Given the description of an element on the screen output the (x, y) to click on. 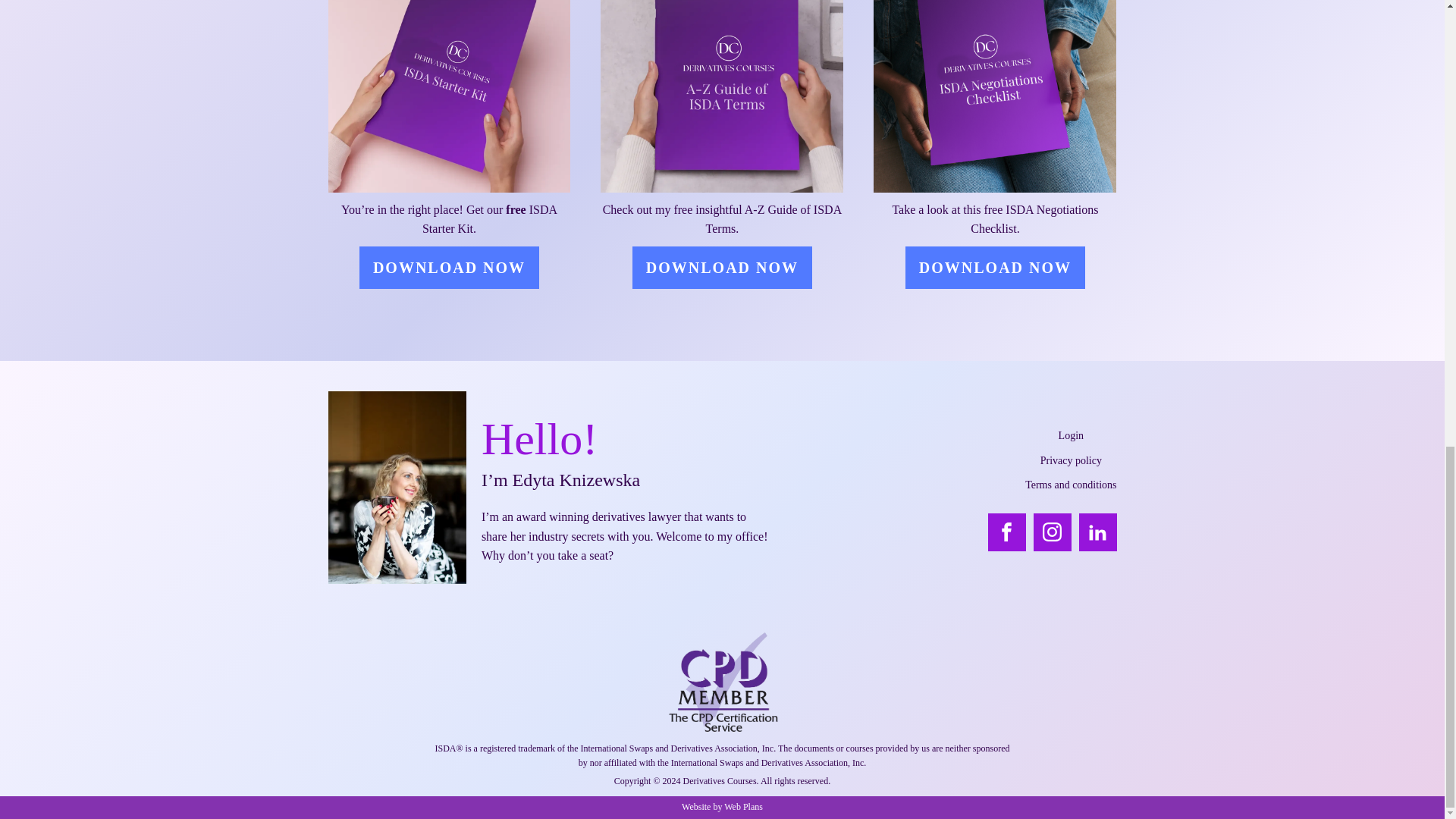
Terms and conditions (1070, 485)
Website by Web Plans (721, 807)
DOWNLOAD NOW (448, 267)
Privacy policy (1070, 460)
Login (1070, 435)
DOWNLOAD NOW (994, 267)
DOWNLOAD NOW (721, 267)
